Given the description of an element on the screen output the (x, y) to click on. 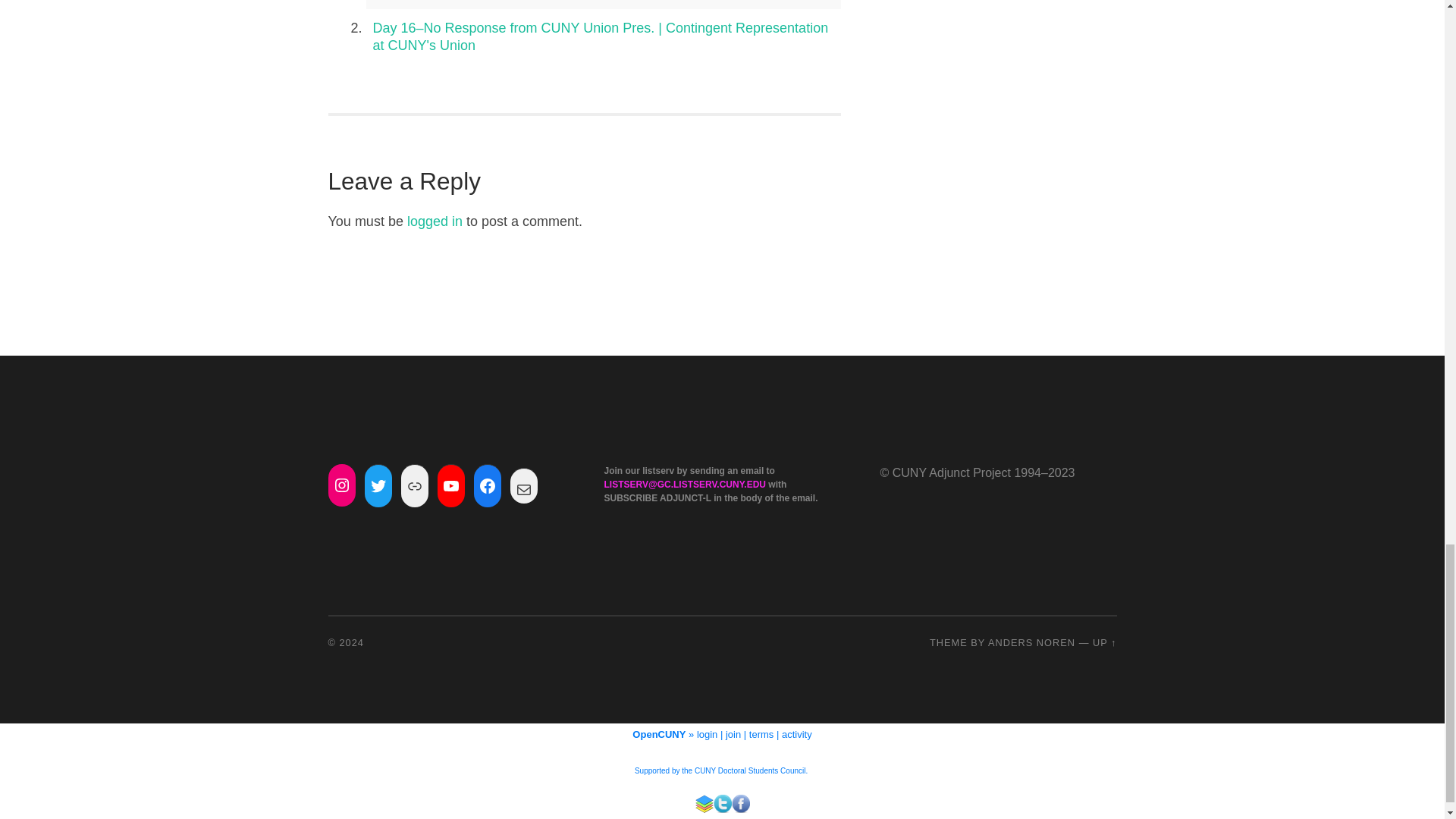
via OpenCUNY (703, 803)
To the top (1104, 642)
Like OpenCUNY (739, 803)
CUNY DSC (750, 770)
